Given the description of an element on the screen output the (x, y) to click on. 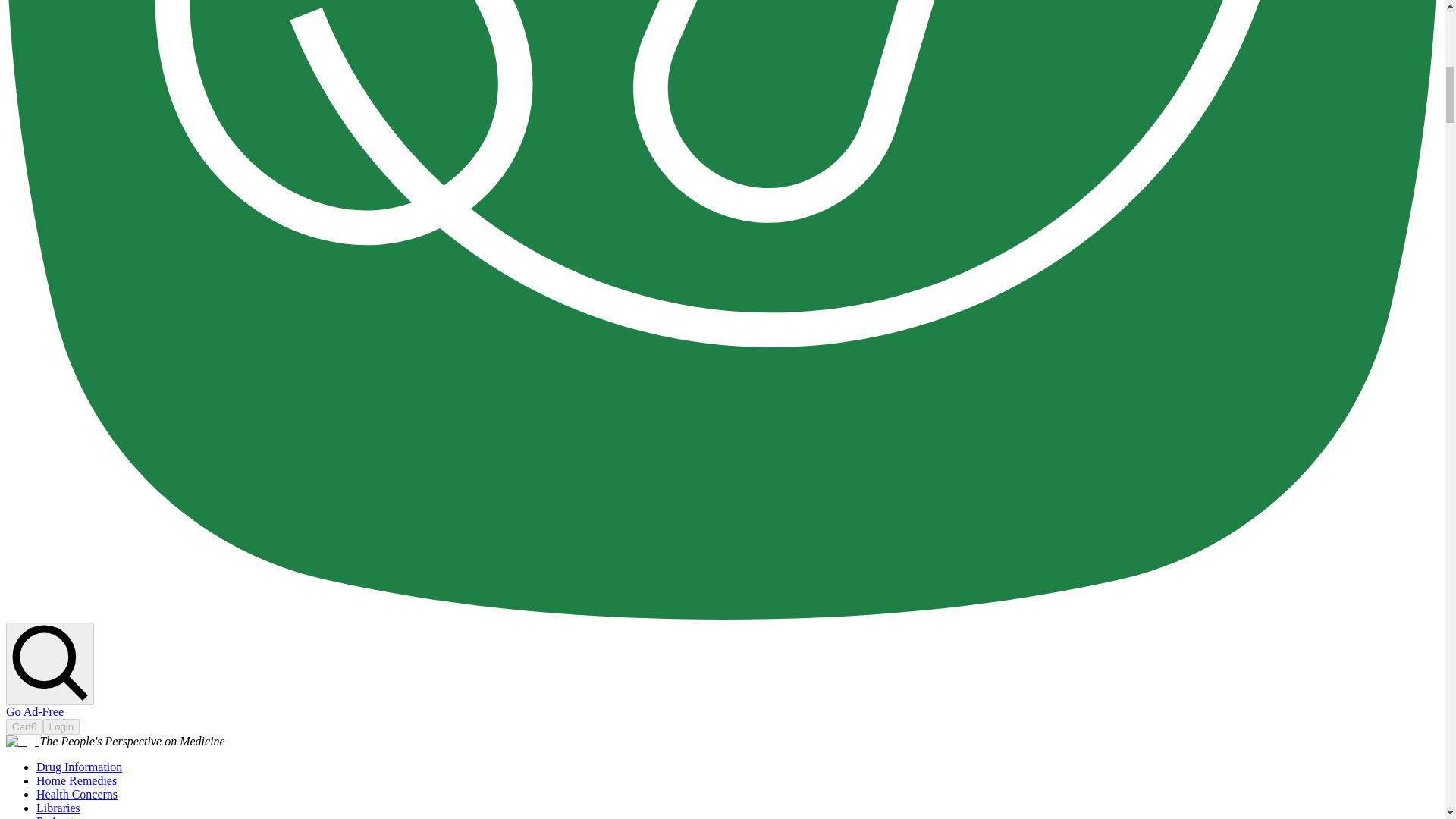
Libraries (58, 807)
Login (61, 726)
Home Remedies (76, 780)
Podcasts (57, 816)
Cart0 (24, 726)
Drug Information (79, 766)
Health Concerns (76, 793)
